Given the description of an element on the screen output the (x, y) to click on. 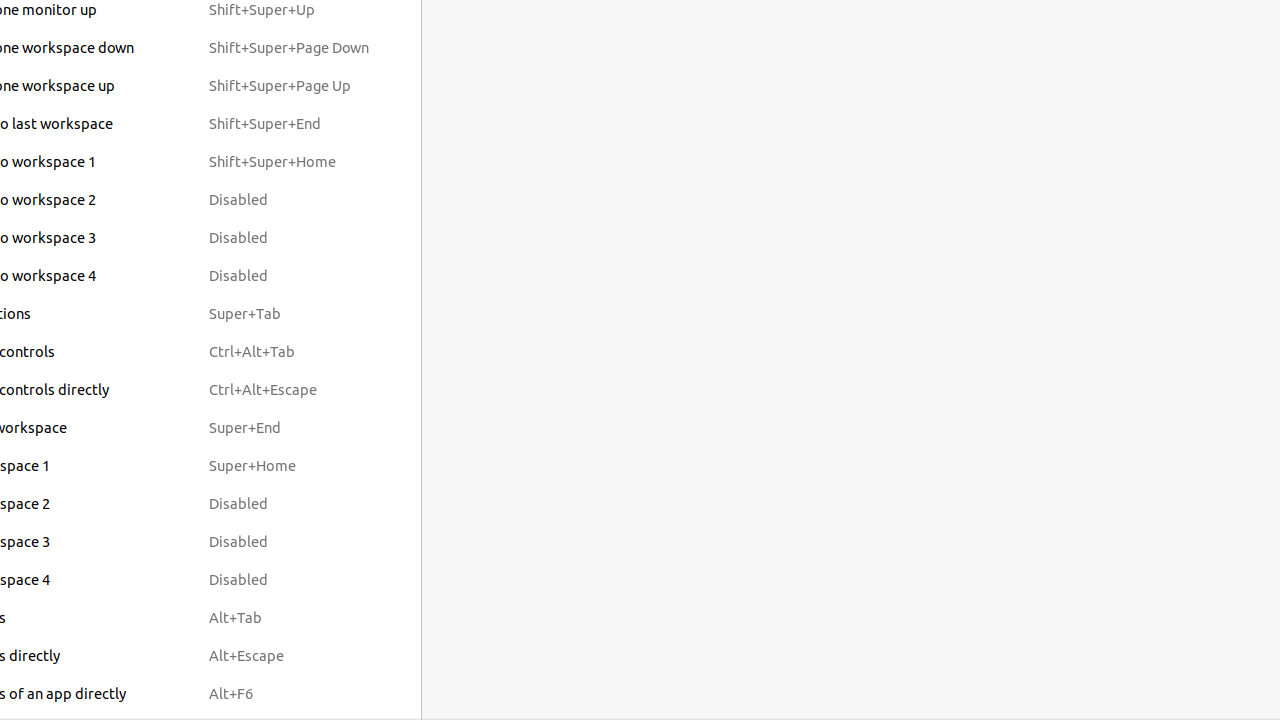
Alt+Escape Element type: label (289, 656)
Super+End Element type: label (289, 427)
Alt+Tab Element type: label (289, 618)
Super+Home Element type: label (289, 466)
Alt+F6 Element type: label (289, 694)
